Given the description of an element on the screen output the (x, y) to click on. 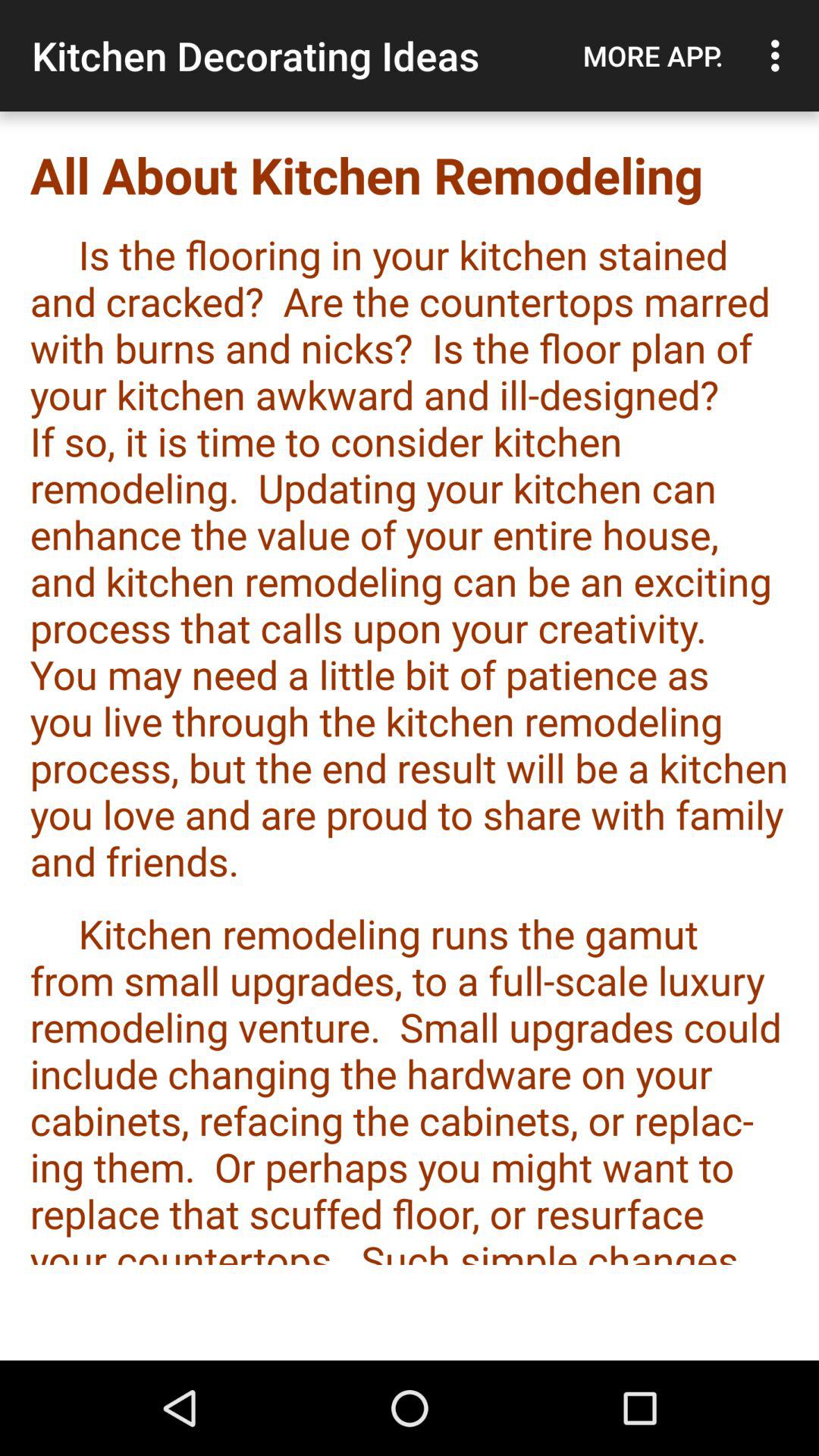
turn off item next to the more app. icon (779, 55)
